Given the description of an element on the screen output the (x, y) to click on. 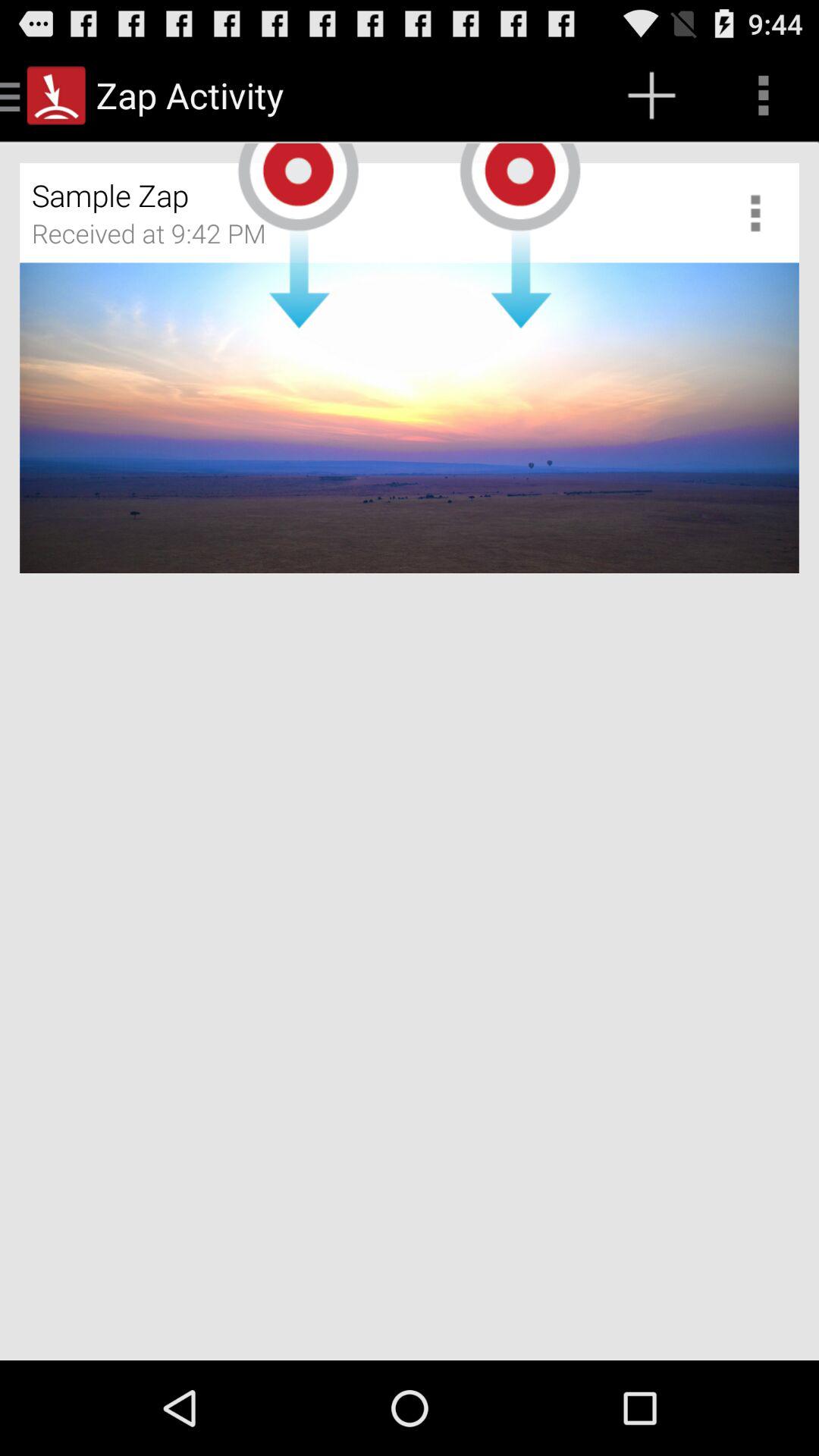
press the item below received at 9 icon (409, 417)
